Given the description of an element on the screen output the (x, y) to click on. 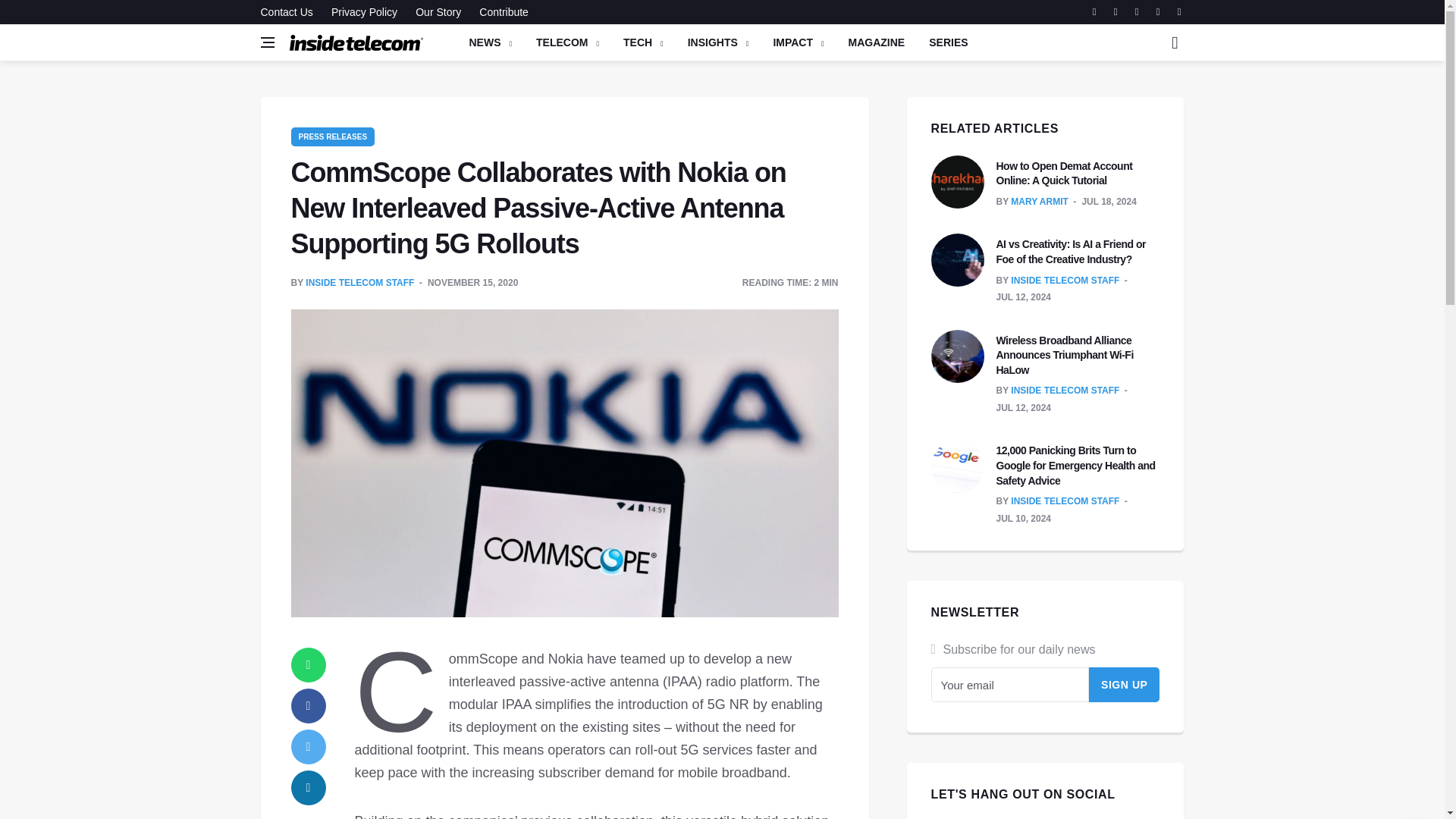
facebook (308, 705)
linkedin (308, 787)
Contribute (499, 12)
twitter (308, 746)
Sign Up (1124, 684)
Privacy Policy (363, 12)
whatsapp (308, 664)
Our Story (437, 12)
Contact Us (290, 12)
